Given the description of an element on the screen output the (x, y) to click on. 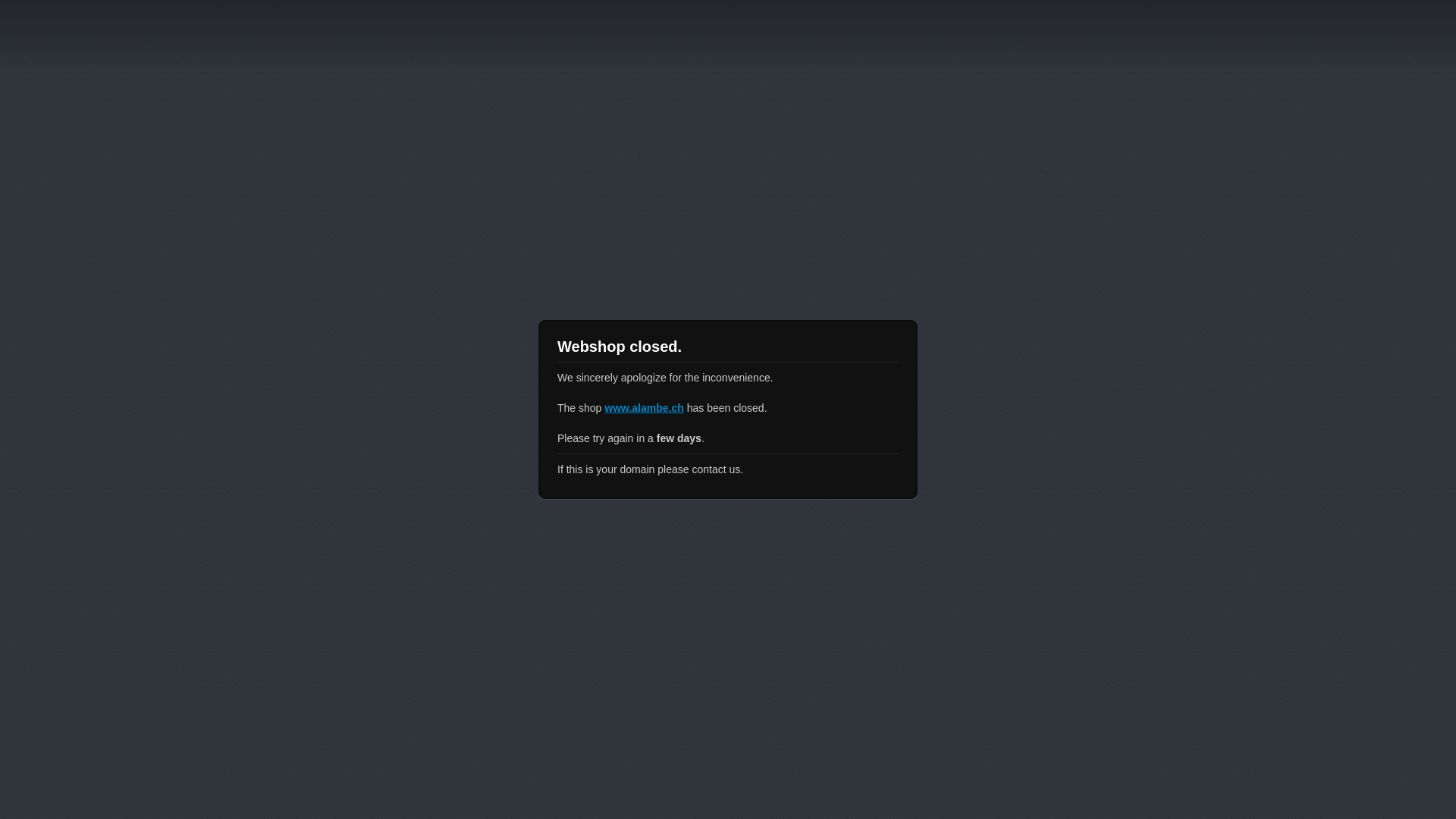
www.alambe.ch Element type: text (644, 407)
